Given the description of an element on the screen output the (x, y) to click on. 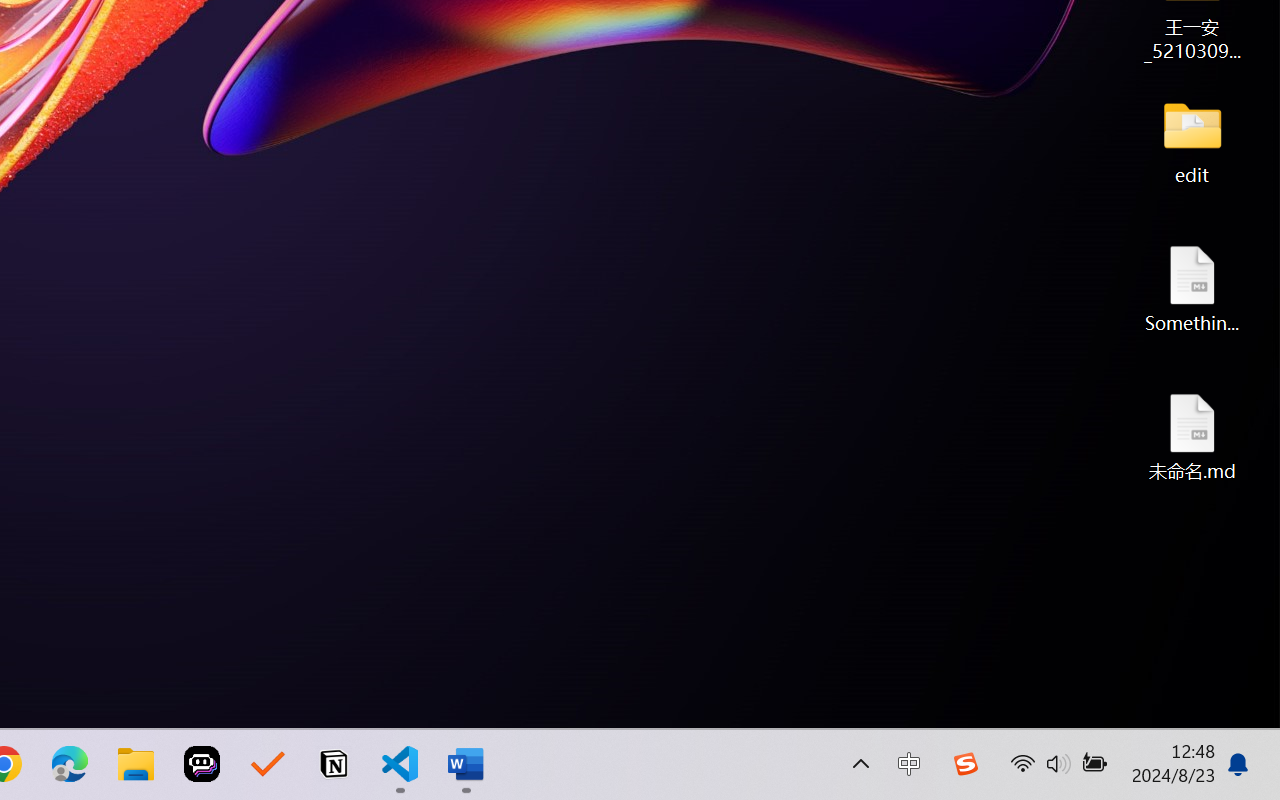
Microsoft Edge (69, 764)
Something.md (1192, 288)
